Given the description of an element on the screen output the (x, y) to click on. 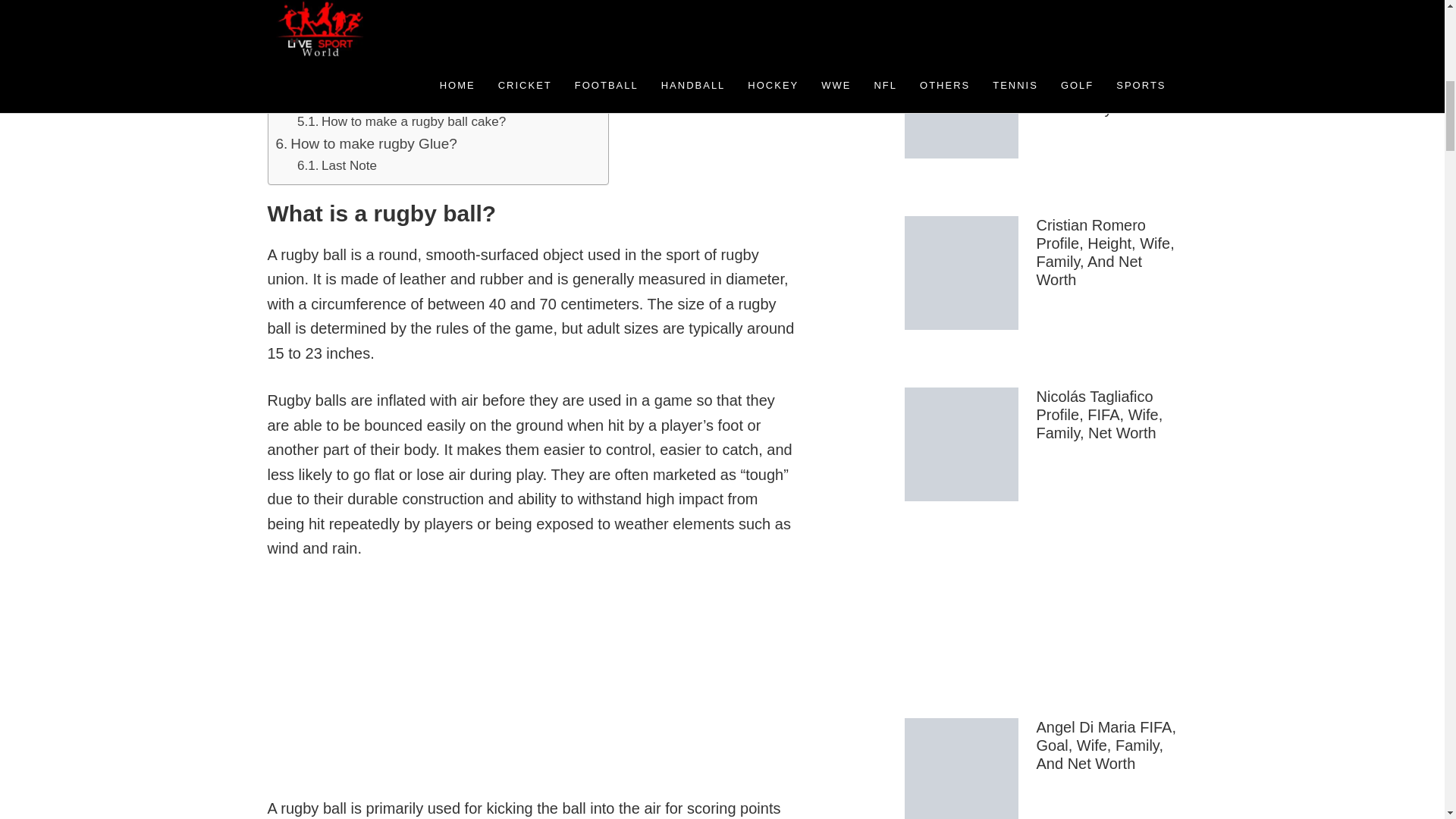
How to make a rugby ball cake? (401, 121)
Last Note (337, 165)
How to make a rugby ball out of a tennis ball? (429, 15)
How to make rugby Glue? (366, 143)
How to make a rugby ball out of paper? (422, 1)
What materials do I need to make a rugby ball? (444, 56)
How do I make the rugby ball shape? (416, 77)
People also ask (355, 36)
How do I make the rugby ball size? (395, 99)
